Given the description of an element on the screen output the (x, y) to click on. 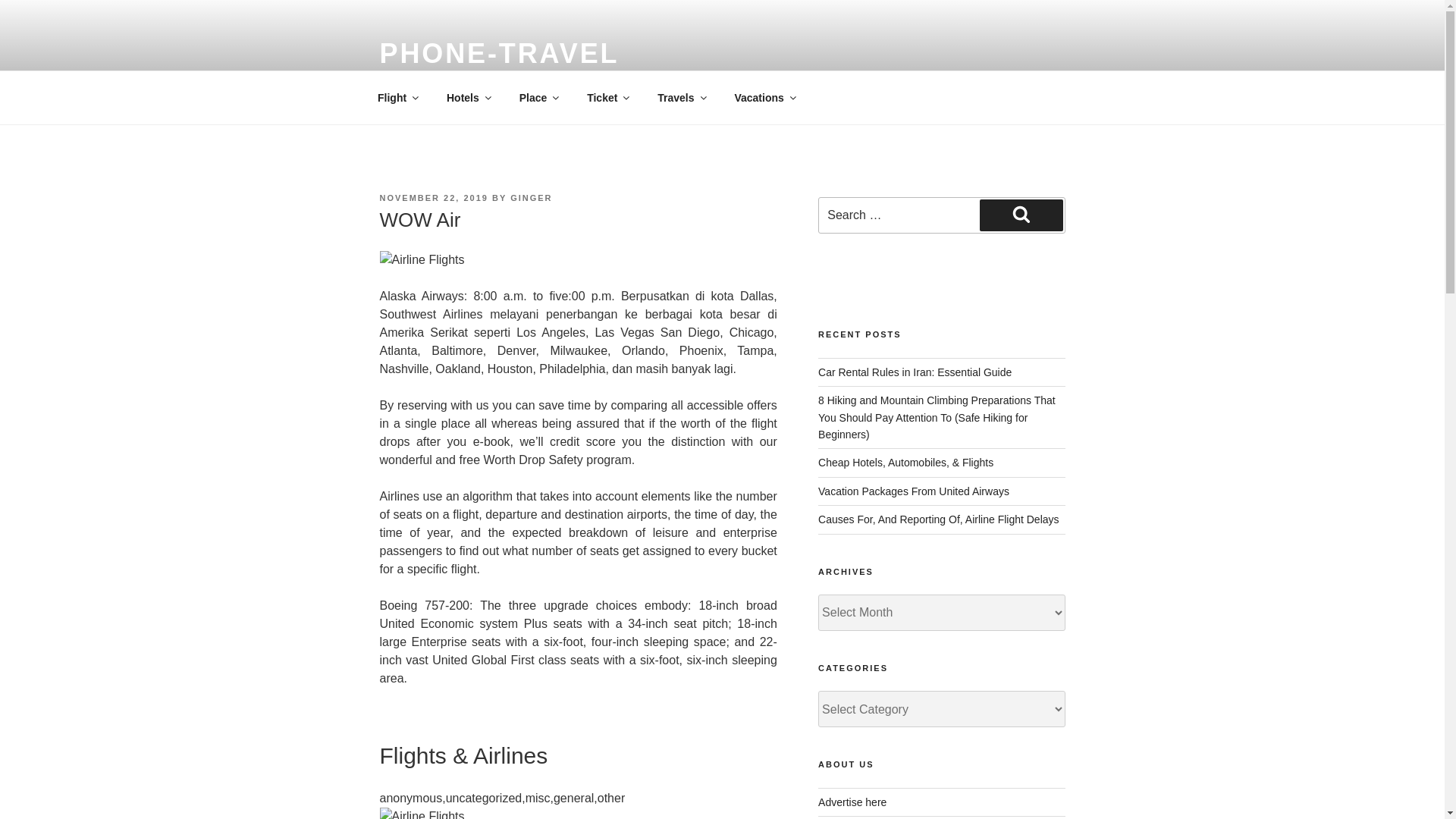
Flight (396, 97)
Travels (681, 97)
Car Rental Rules in Iran: Essential Guide (914, 372)
PHONE-TRAVEL (498, 52)
Search (1020, 214)
Place (537, 97)
Advertise here (852, 802)
Causes For, And Reporting Of, Airline Flight Delays (938, 519)
Vacations (764, 97)
GINGER (531, 197)
